Given the description of an element on the screen output the (x, y) to click on. 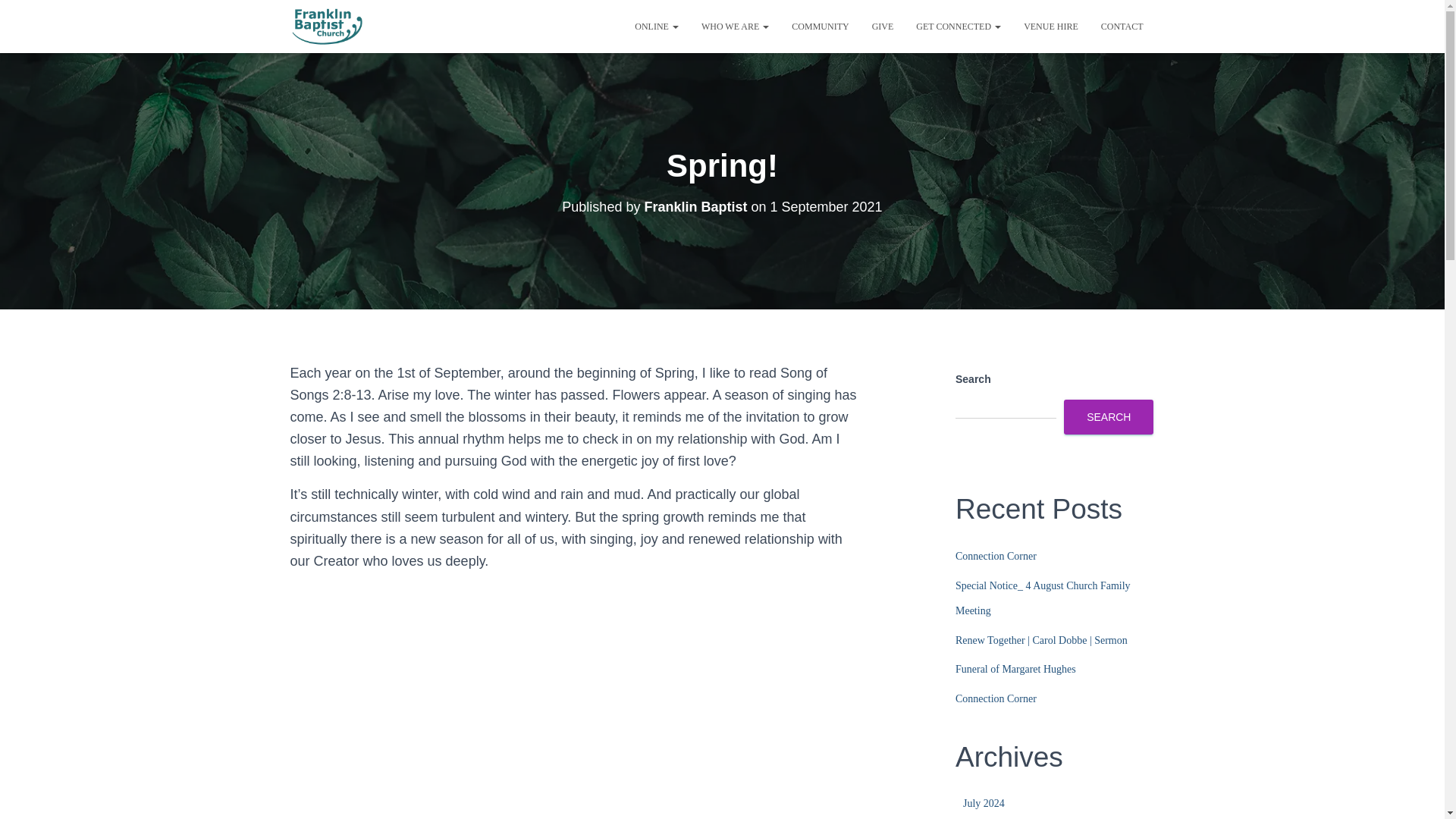
July 2024 (983, 803)
Community (820, 26)
Connection Corner (995, 698)
Who We Are (735, 26)
Venue Hire (1050, 26)
GIVE (882, 26)
Give (882, 26)
Franklin Baptist (694, 206)
WHO WE ARE (735, 26)
Franklin Baptist Church (327, 26)
ONLINE (656, 26)
Online (656, 26)
Contact (1121, 26)
GET CONNECTED (957, 26)
VENUE HIRE (1050, 26)
